Given the description of an element on the screen output the (x, y) to click on. 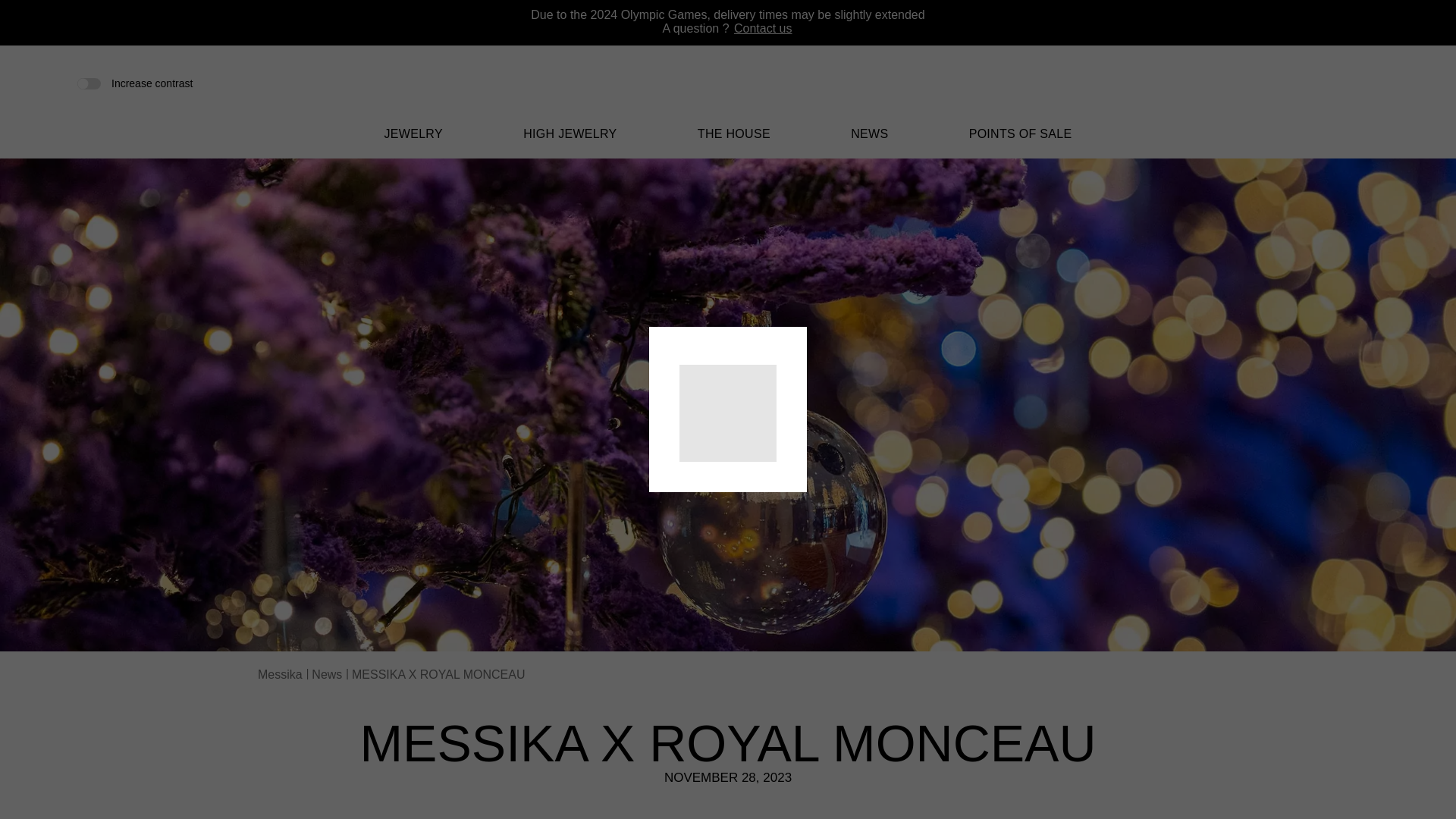
Contact us (762, 28)
Wishlist (1335, 84)
JEWELRY (413, 142)
Shopping Cart (1360, 84)
Messika (727, 92)
Search (1310, 84)
Wishlist (1335, 83)
Messika (727, 103)
on (88, 82)
